Given the description of an element on the screen output the (x, y) to click on. 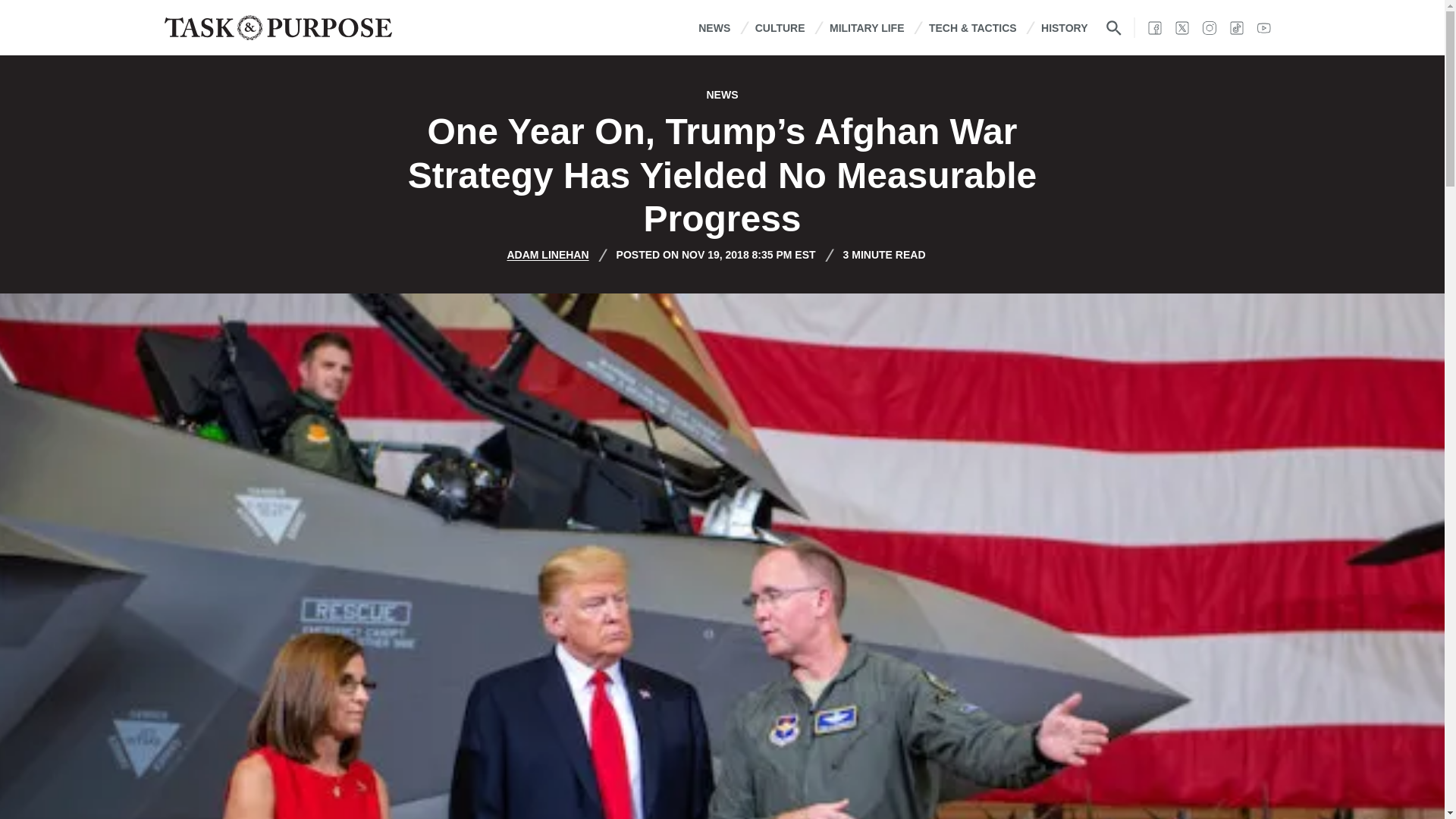
NEWS (714, 27)
MILITARY LIFE (866, 27)
CULTURE (780, 27)
